Given the description of an element on the screen output the (x, y) to click on. 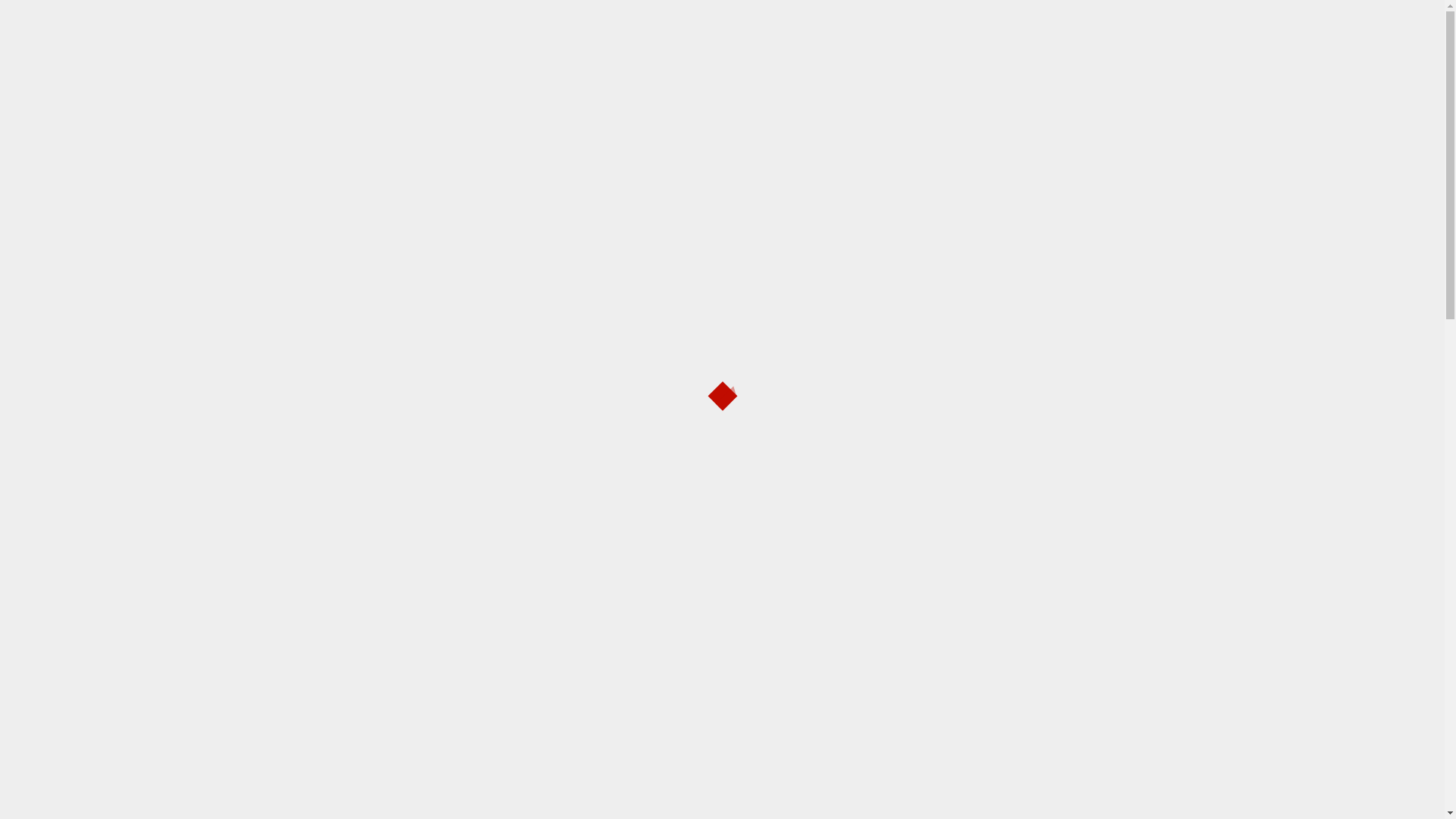
Rumus Rahasia Bandarq Mainkan dan Raih Jutaan Hadiahnya Element type: text (1000, 540)
SUBSCRIBE Element type: text (1065, 168)
HOME Element type: text (348, 168)
SEARCH Element type: text (1093, 321)
Light/Dark Button Element type: text (953, 167)
agen bandarq terpercaya Element type: text (958, 739)
agen judi casino online Element type: text (953, 771)
Search Element type: text (960, 214)
BLOG JUDI ONLINE Element type: text (430, 168)
Home Element type: text (331, 220)
Skip to content Element type: text (304, 15)
agen bandarq online Element type: text (946, 706)
agen poker online Element type: text (938, 804)
Tentang Situs Element type: text (378, 220)
HUBUNGI KAMI Element type: text (627, 168)
Fitur Utama Bandarqq Jika Dimainkan secara Online Element type: text (985, 439)
TENTANG SITUS Element type: text (532, 168)
Search Element type: hover (986, 168)
Referensi Game Casino Online Populer Dalam Mencari Untung Element type: text (986, 489)
